Given the description of an element on the screen output the (x, y) to click on. 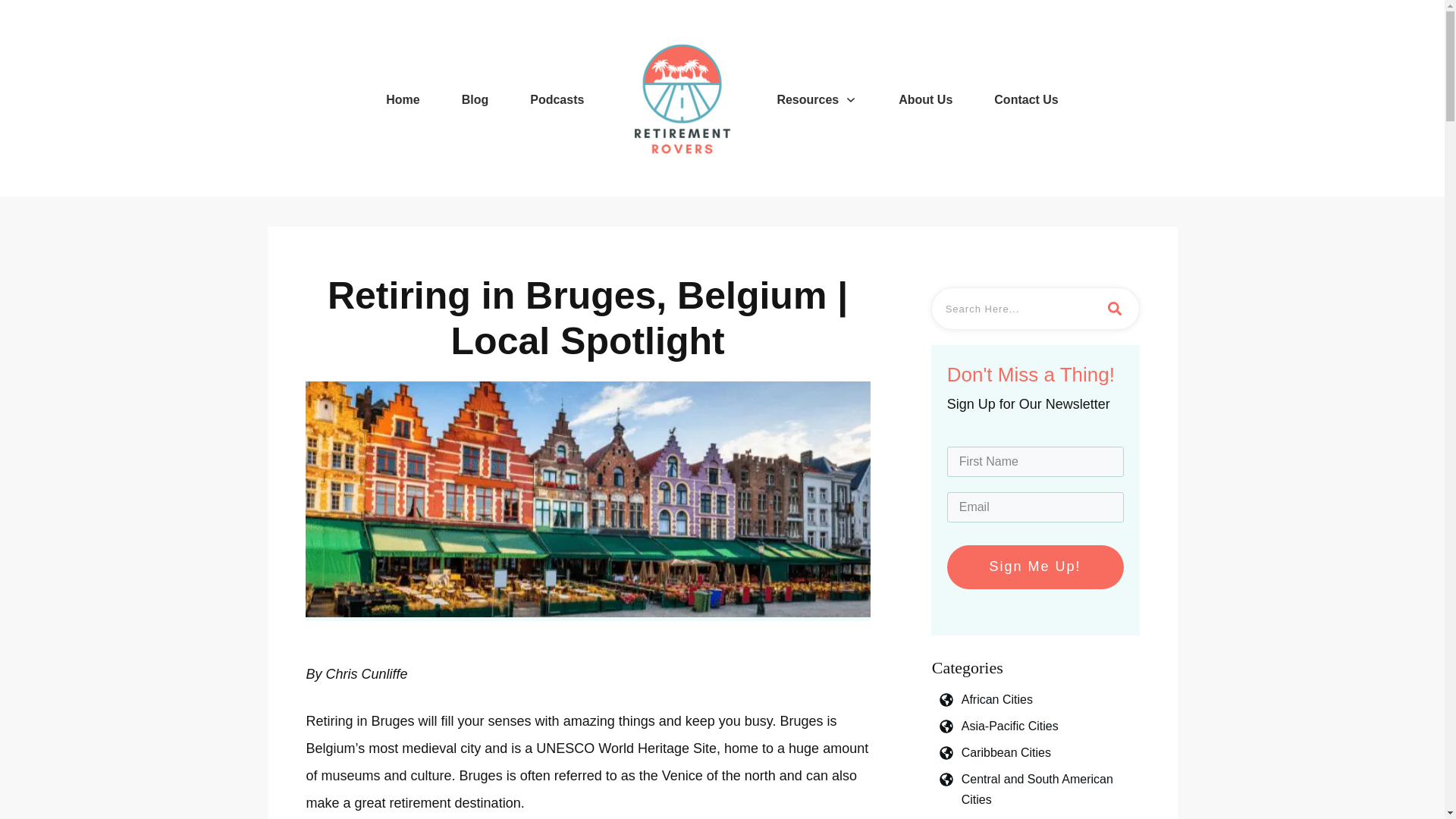
Central and South American Cities (1049, 789)
Asia-Pacific Cities (1009, 725)
Home (402, 99)
Caribbean Cities (1005, 752)
Sign Me Up! (1035, 566)
African Cities (996, 699)
European Cities (1004, 817)
Resources (816, 99)
Podcasts (556, 99)
Contact Us (1026, 99)
About Us (925, 99)
Blog (475, 99)
